Given the description of an element on the screen output the (x, y) to click on. 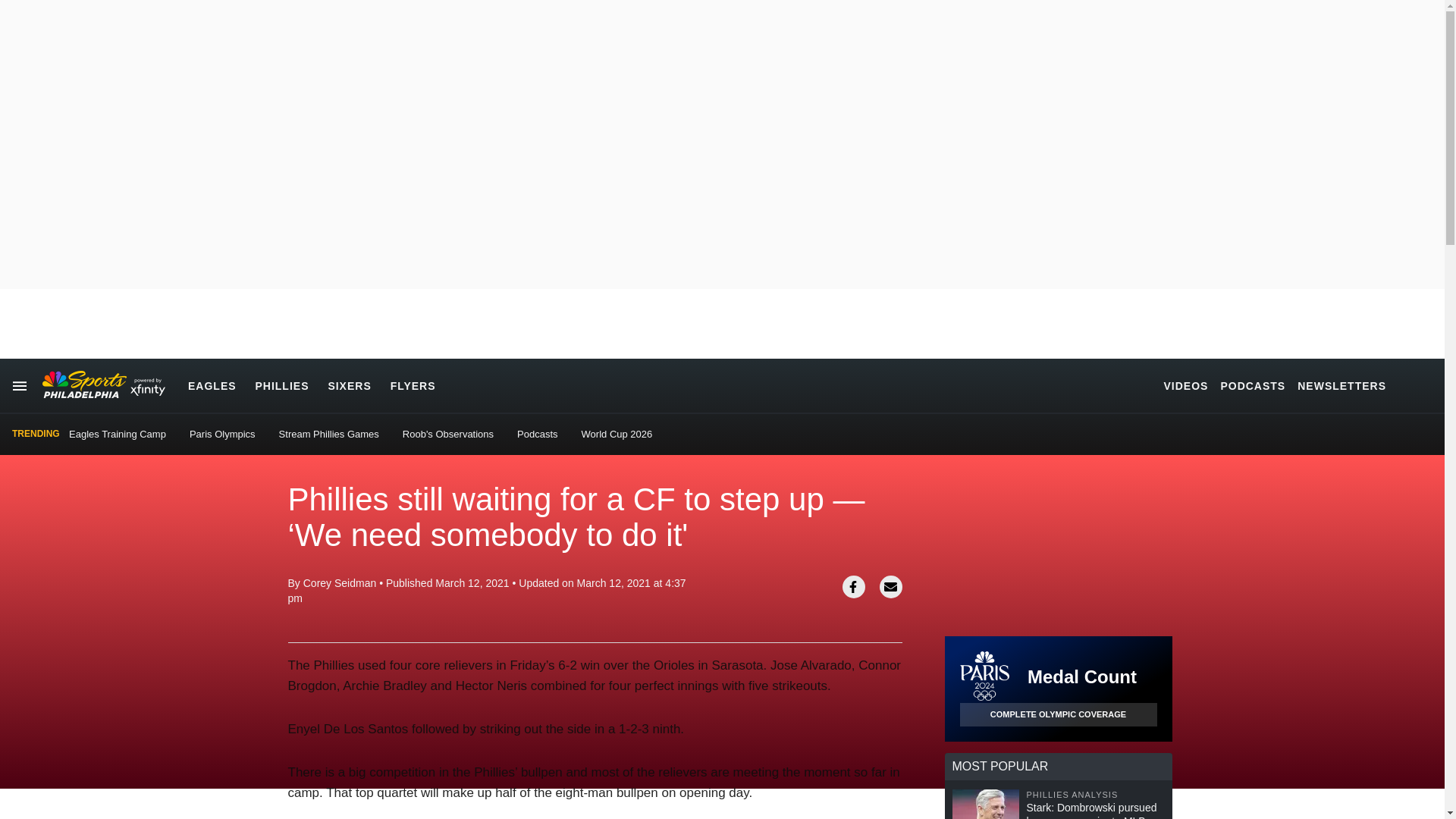
Corey Seidman (339, 582)
Stream Phillies Games (328, 433)
Eagles Training Camp (116, 433)
VIDEOS (1185, 385)
SIXERS (349, 385)
Podcasts (536, 433)
FLYERS (412, 385)
PHILLIES ANALYSIS (1095, 794)
COMPLETE OLYMPIC COVERAGE (1058, 714)
PODCASTS (1252, 385)
EAGLES (211, 385)
PHILLIES (281, 385)
Paris Olympics (222, 433)
NEWSLETTERS (1341, 385)
